Given the description of an element on the screen output the (x, y) to click on. 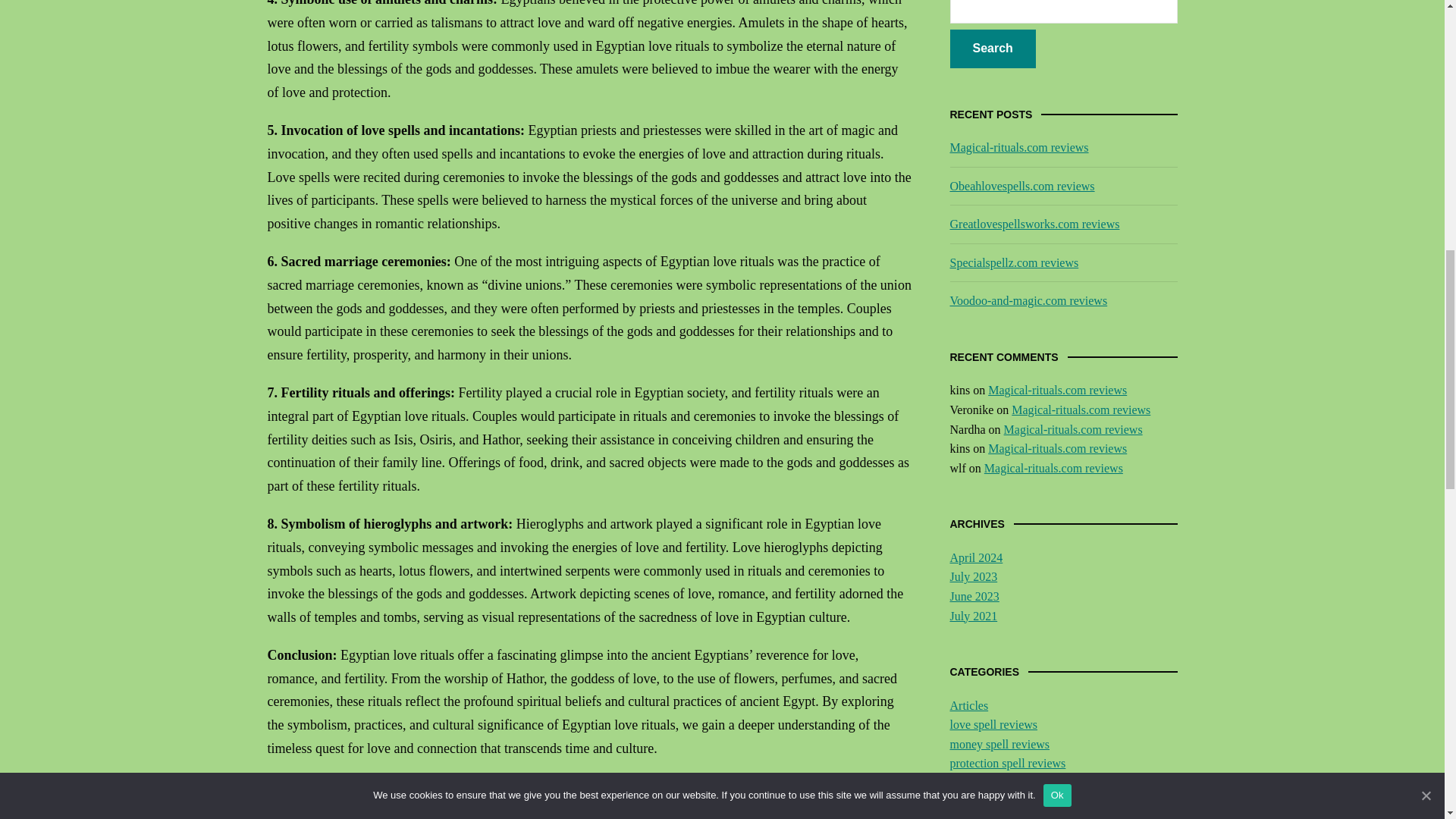
July 2021 (973, 615)
Magical-rituals.com reviews (1057, 390)
April 2024 (976, 557)
July 2023 (973, 576)
Search (992, 48)
Magical-rituals.com reviews (1053, 468)
spell caster reviews (996, 782)
protection spell reviews (1007, 762)
Articles (968, 705)
Magical-rituals.com reviews (1018, 146)
